Given the description of an element on the screen output the (x, y) to click on. 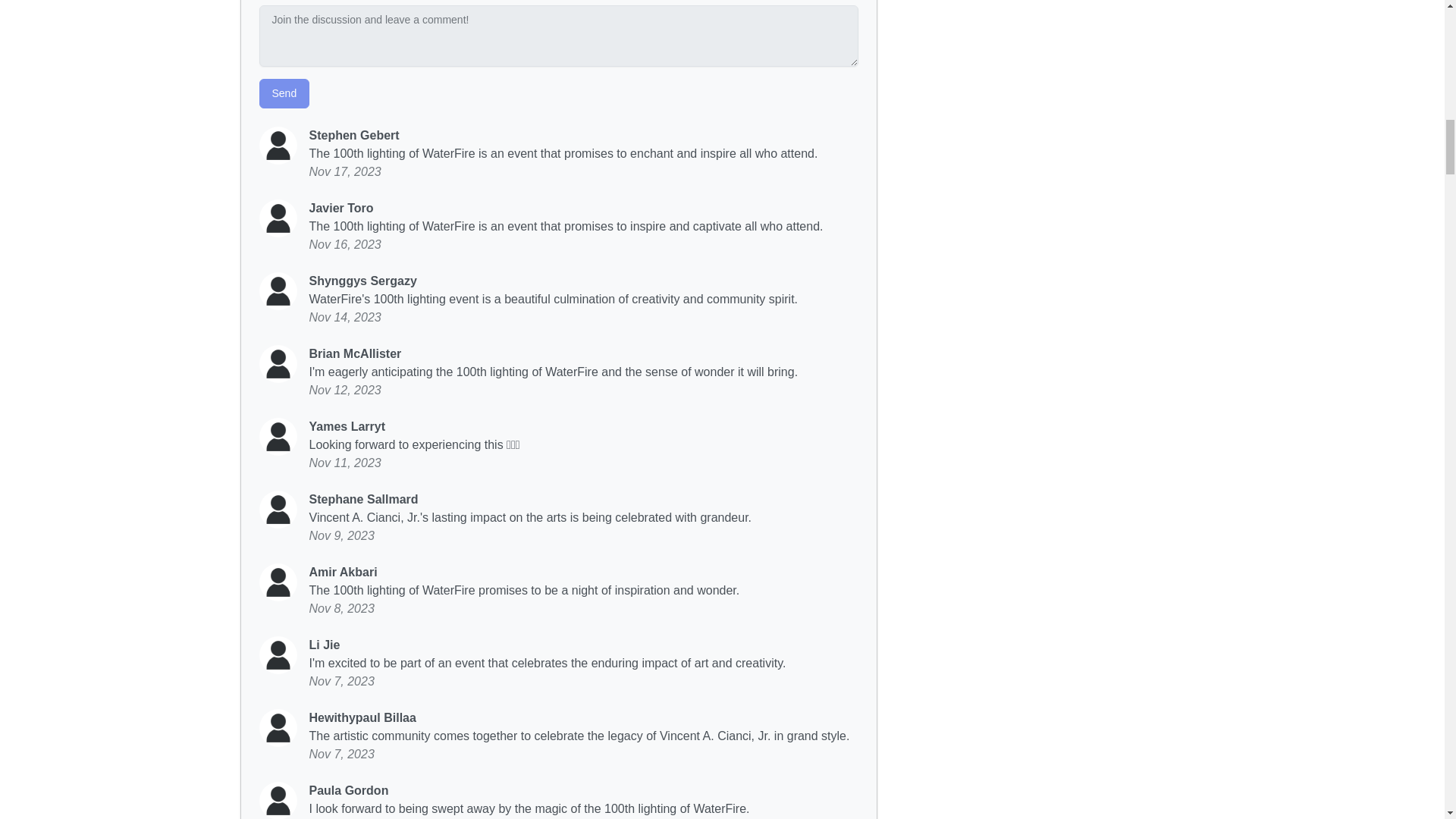
Send (284, 93)
Send (284, 93)
